Given the description of an element on the screen output the (x, y) to click on. 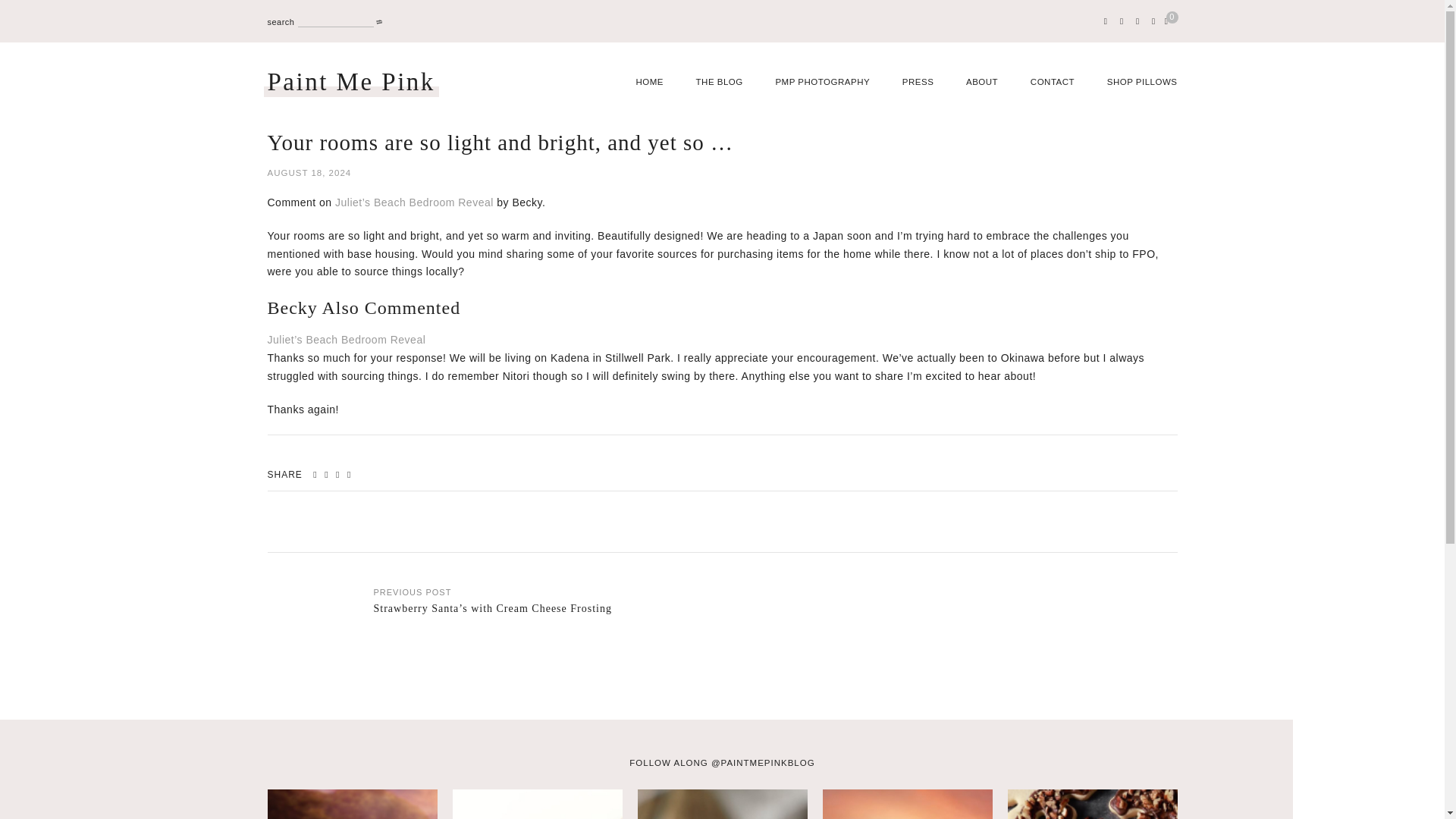
THE BLOG (718, 81)
HOME (648, 81)
PMP PHOTOGRAPHY (821, 81)
PRESS (918, 81)
AUGUST 18, 2024 (721, 173)
PREVIOUS POST (411, 591)
CONTACT (1052, 81)
ABOUT (981, 81)
SHOP PILLOWS (1141, 81)
Paint Me Pink (349, 82)
